Given the description of an element on the screen output the (x, y) to click on. 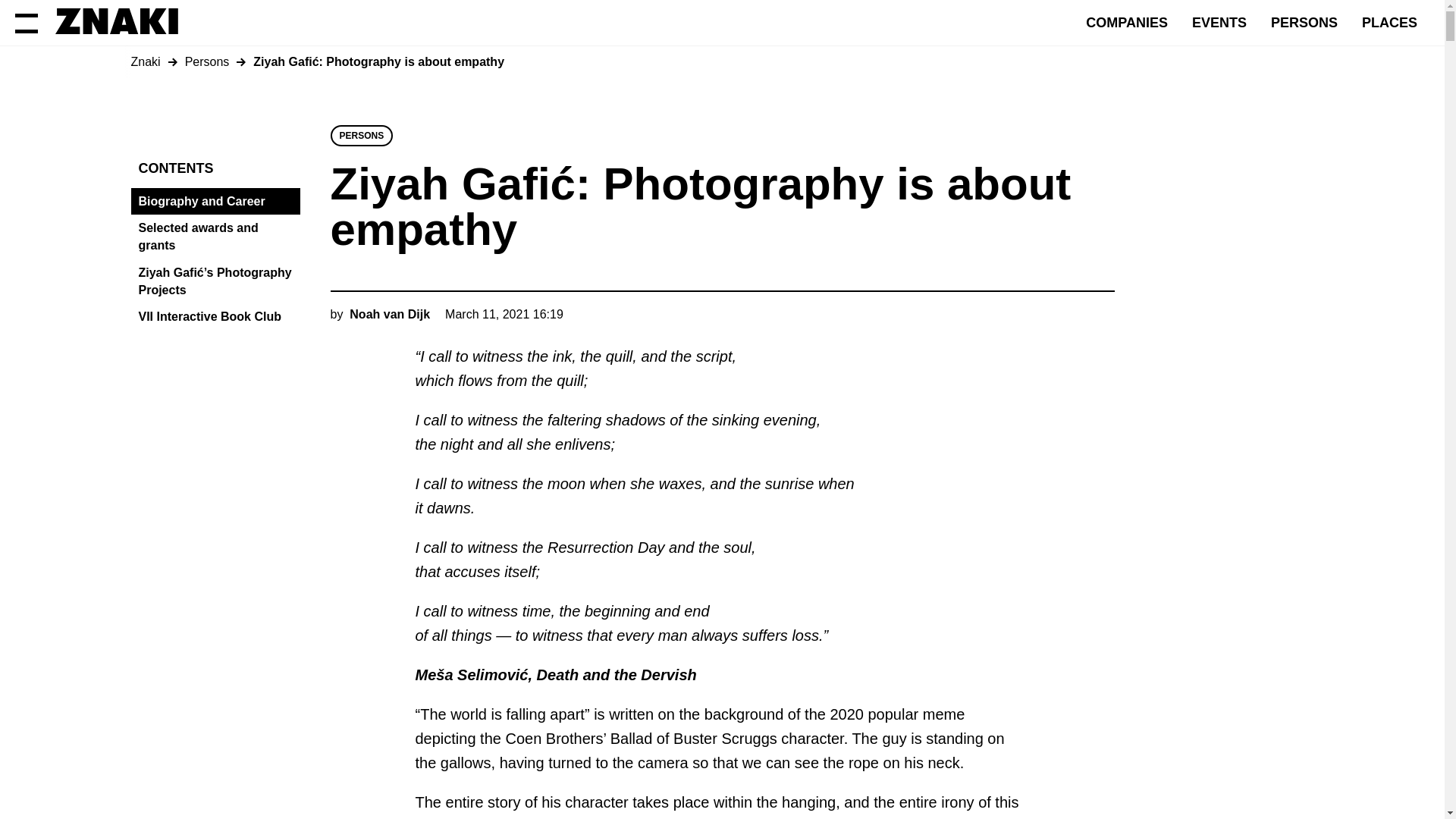
COMPANIES Element type: text (1126, 22)
PERSONS Element type: text (1303, 22)
Persons Element type: text (207, 61)
Biography and Career Element type: text (218, 201)
Noah van Dijk Element type: text (389, 313)
EVENTS Element type: text (1218, 22)
VII Interactive Book Club Element type: text (218, 316)
Selected awards and grants Element type: text (218, 236)
PERSONS Element type: text (361, 135)
Znaki Element type: text (145, 61)
PLACES Element type: text (1389, 22)
